Given the description of an element on the screen output the (x, y) to click on. 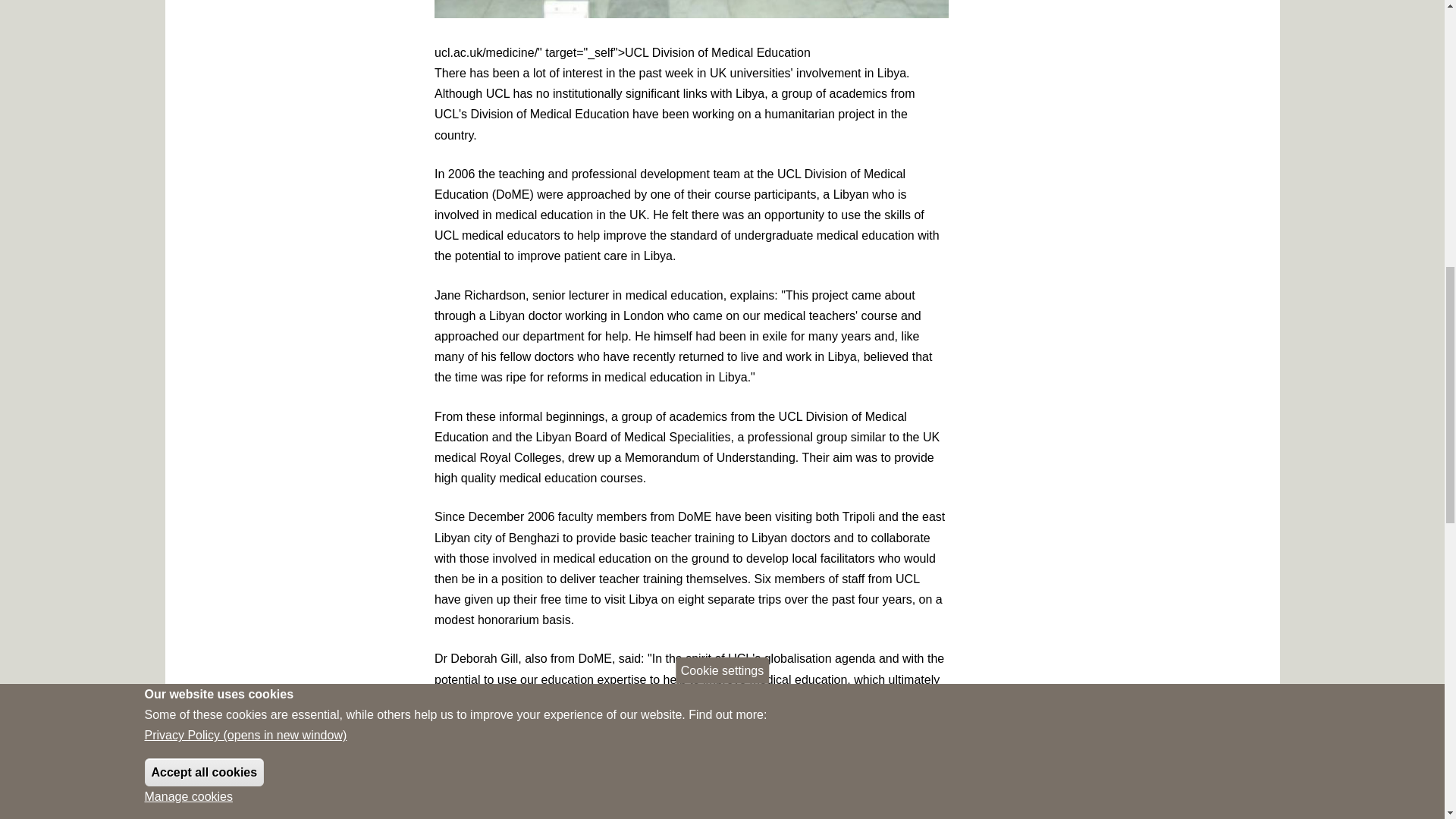
Libyan doctors (691, 8)
